Given the description of an element on the screen output the (x, y) to click on. 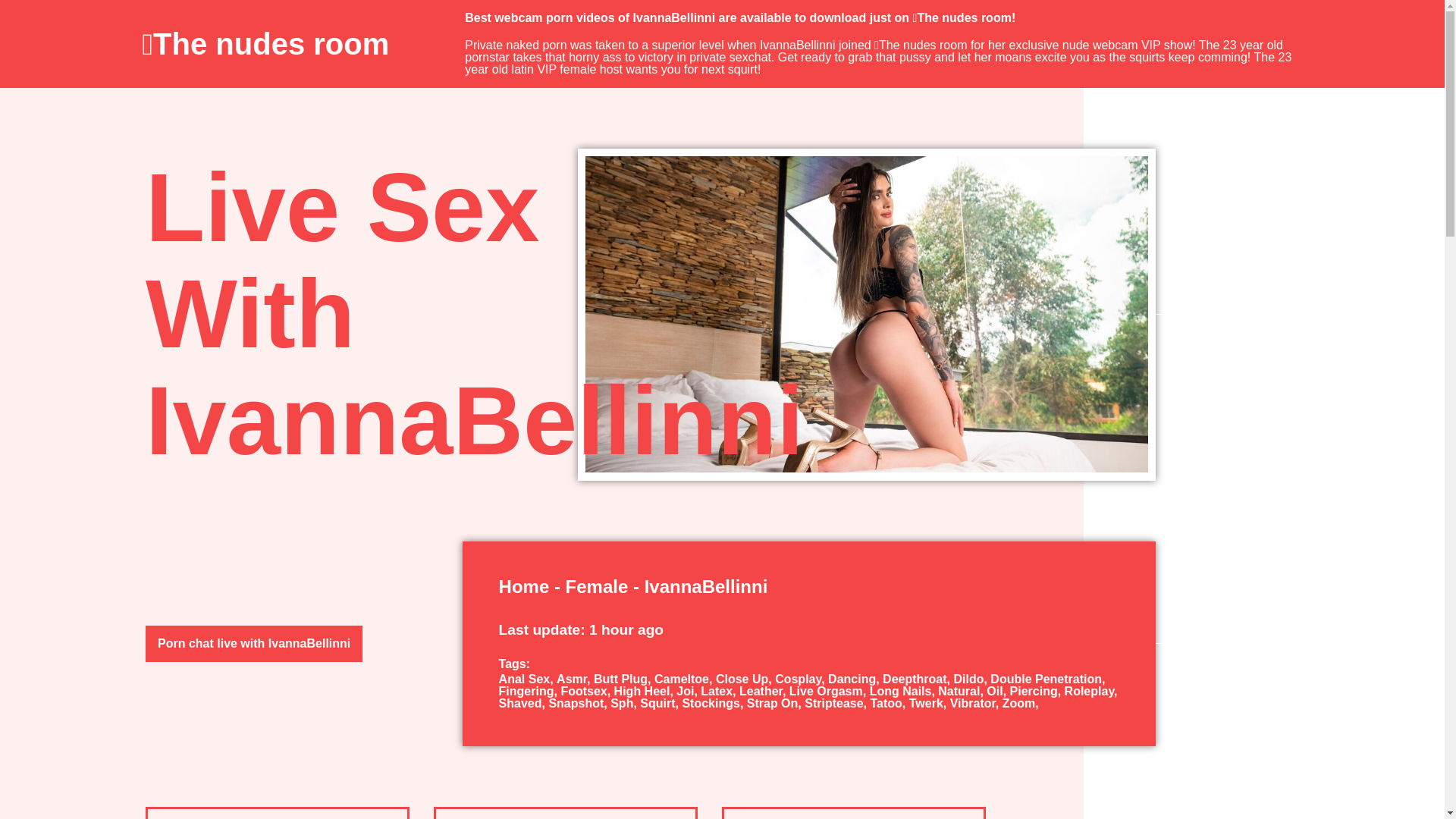
Double Penetration (1047, 678)
Fingering (529, 690)
Long Nails (904, 690)
Fingering (529, 690)
Natural (962, 690)
Dildo (971, 678)
Female (597, 586)
Roleplay (1091, 690)
Footsex (586, 690)
Cosplay (801, 678)
Cameltoe (684, 678)
Shaved (523, 703)
Home (524, 586)
Leather (764, 690)
Striptease (837, 703)
